Given the description of an element on the screen output the (x, y) to click on. 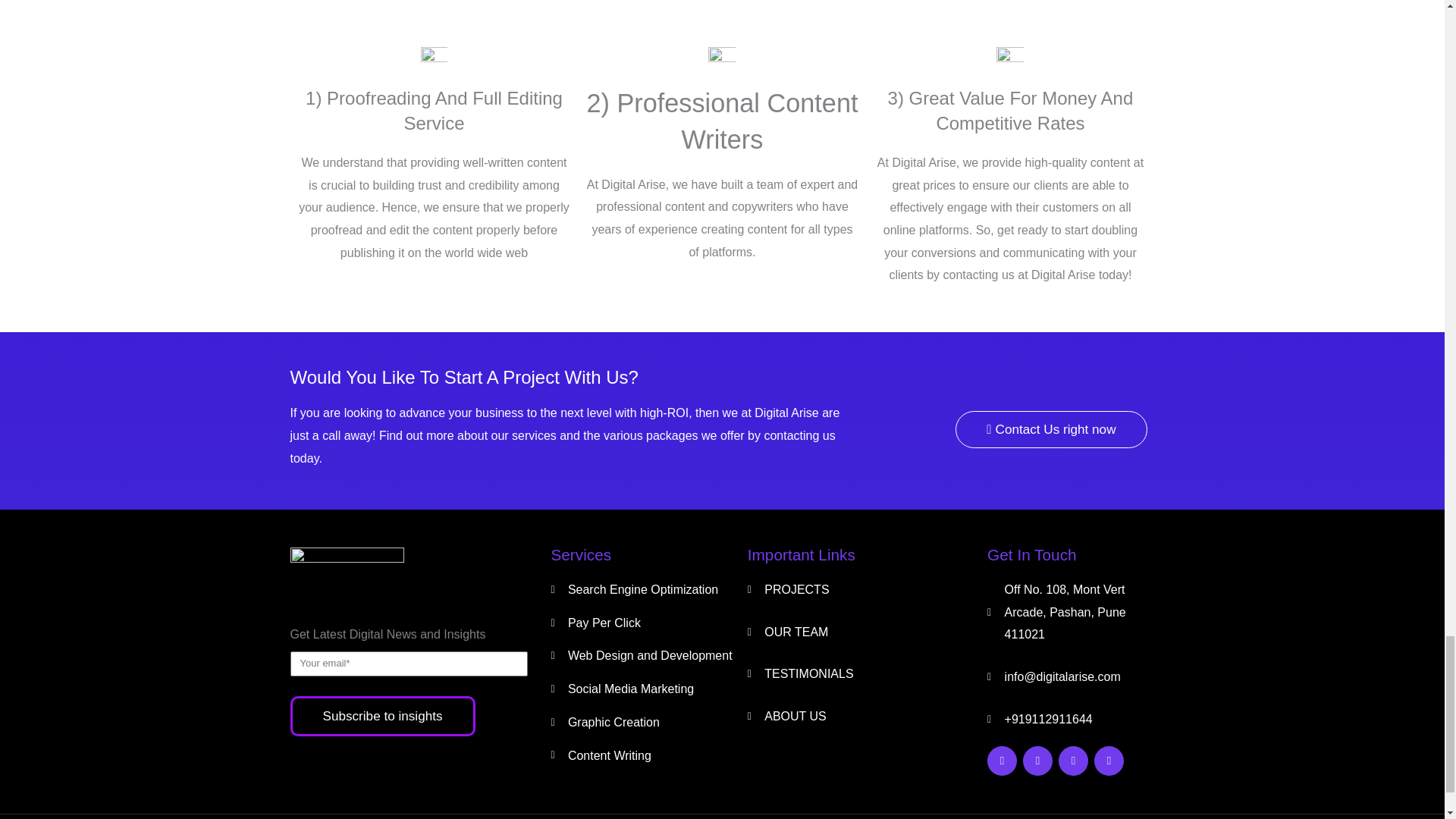
Instagram (1072, 760)
Contact Us right now (1051, 429)
Pay Per Click (648, 622)
Content Writing (648, 755)
Social Media Marketing (648, 689)
Graphic Creation (648, 722)
Search Engine Optimization (648, 589)
Subscribe to insights (381, 716)
Linkedin-in (1109, 760)
Web Design and Development (648, 655)
